Given the description of an element on the screen output the (x, y) to click on. 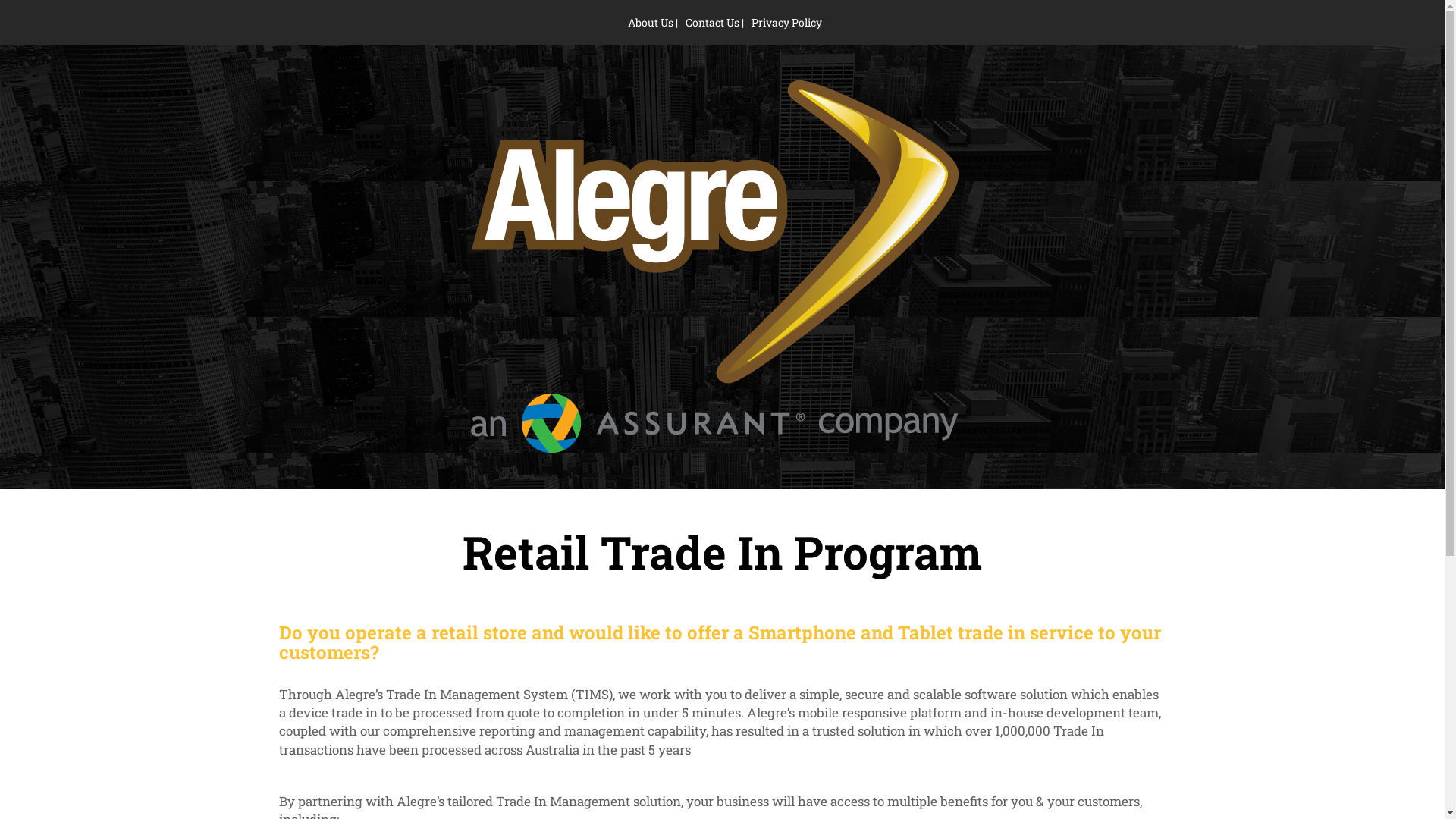
Privacy Policy Element type: text (786, 22)
Contact Us | Element type: text (714, 22)
About Us | Element type: text (652, 22)
